Given the description of an element on the screen output the (x, y) to click on. 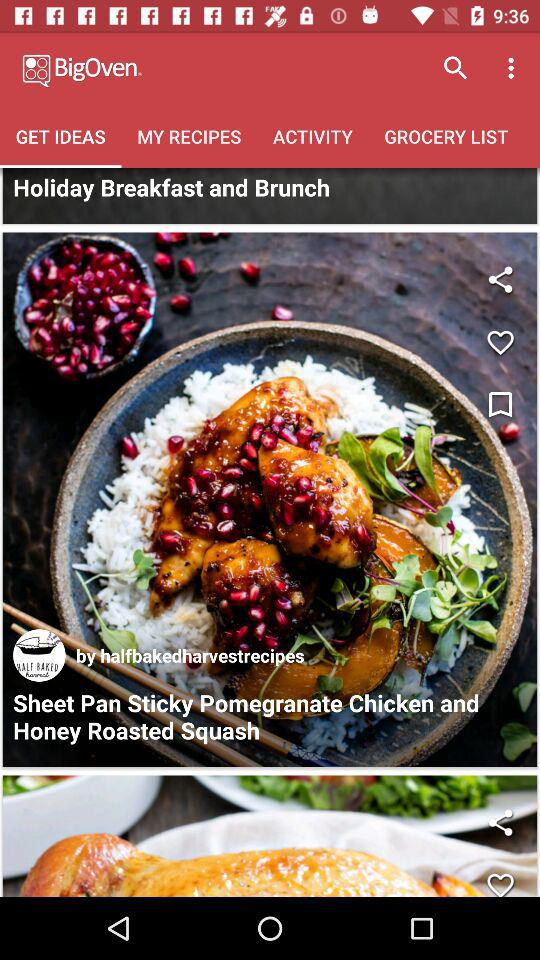
press to bookmark (500, 405)
